Given the description of an element on the screen output the (x, y) to click on. 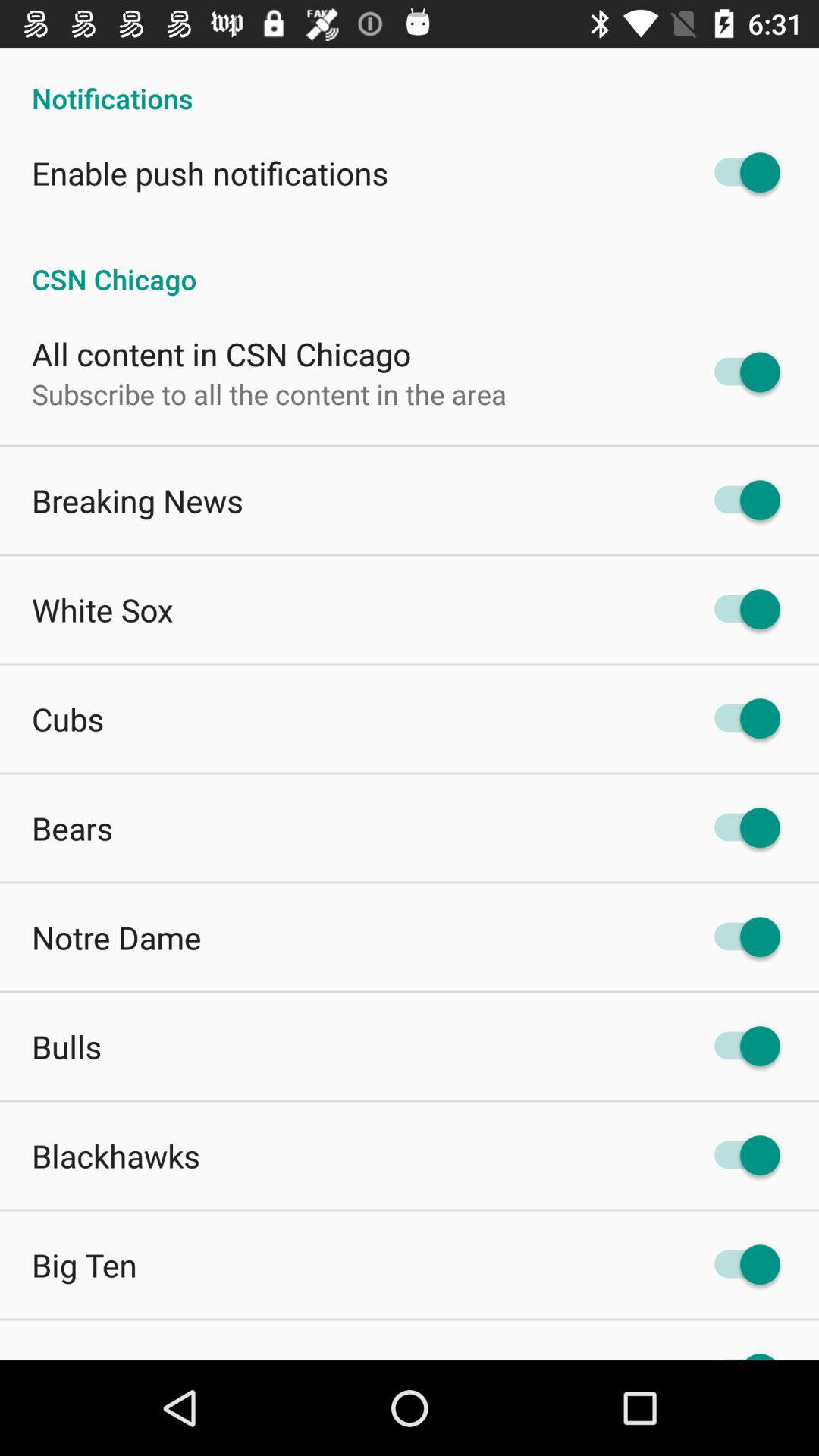
turn off the app above bears icon (67, 718)
